Given the description of an element on the screen output the (x, y) to click on. 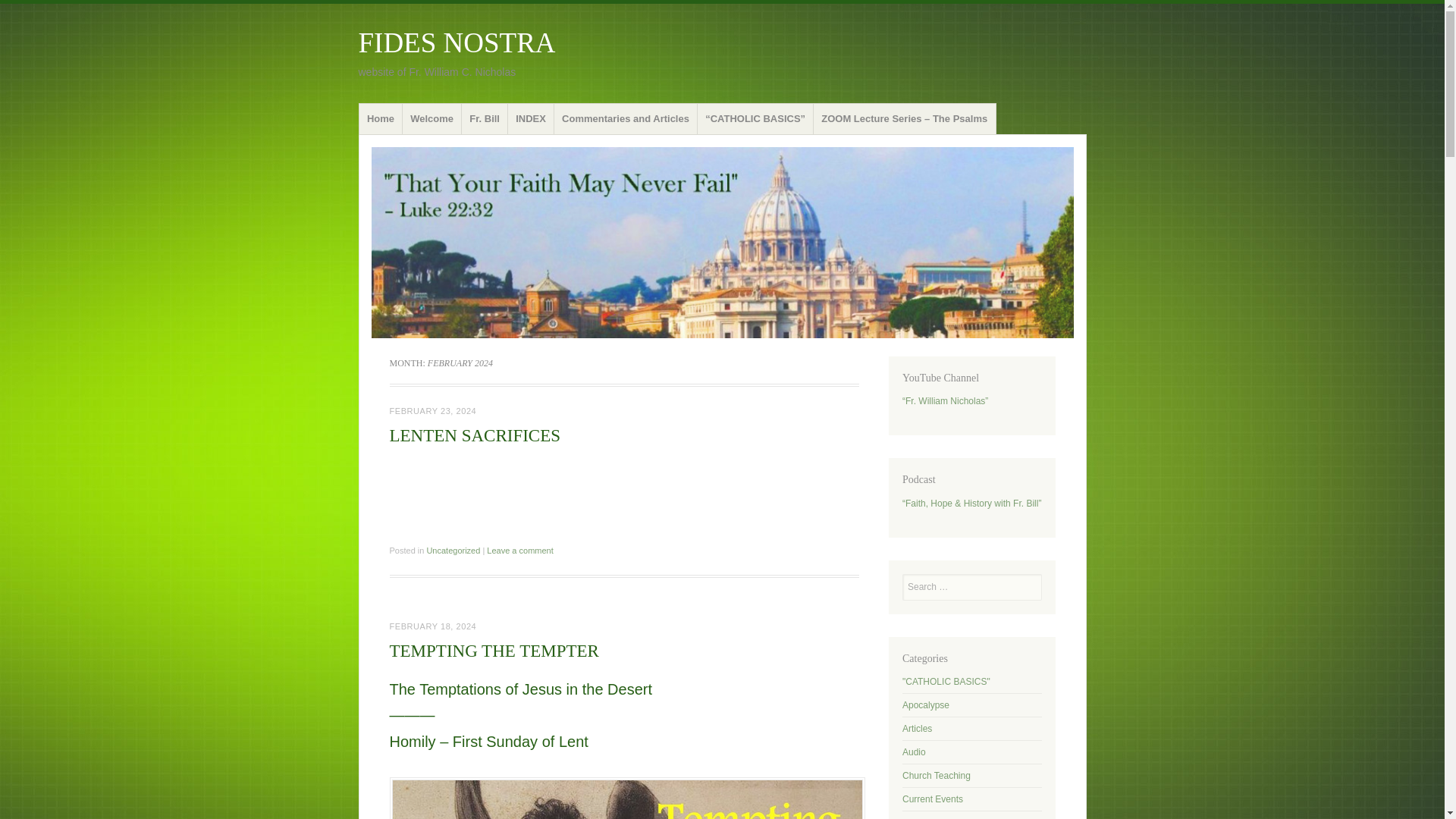
Skip to content (398, 107)
Home (380, 119)
LENTEN SACRIFICES (475, 435)
Fr. Bill (484, 119)
FEBRUARY 18, 2024 (433, 625)
Uncategorized (453, 550)
INDEX (530, 119)
Welcome (432, 119)
Audio recordings of Homilies and Talks (914, 751)
FEBRUARY 23, 2024 (433, 410)
FIDES NOSTRA (456, 42)
3:19 pm (433, 625)
FIDES NOSTRA (456, 42)
1:29 pm (433, 410)
Commentaries and Articles (625, 119)
